Given the description of an element on the screen output the (x, y) to click on. 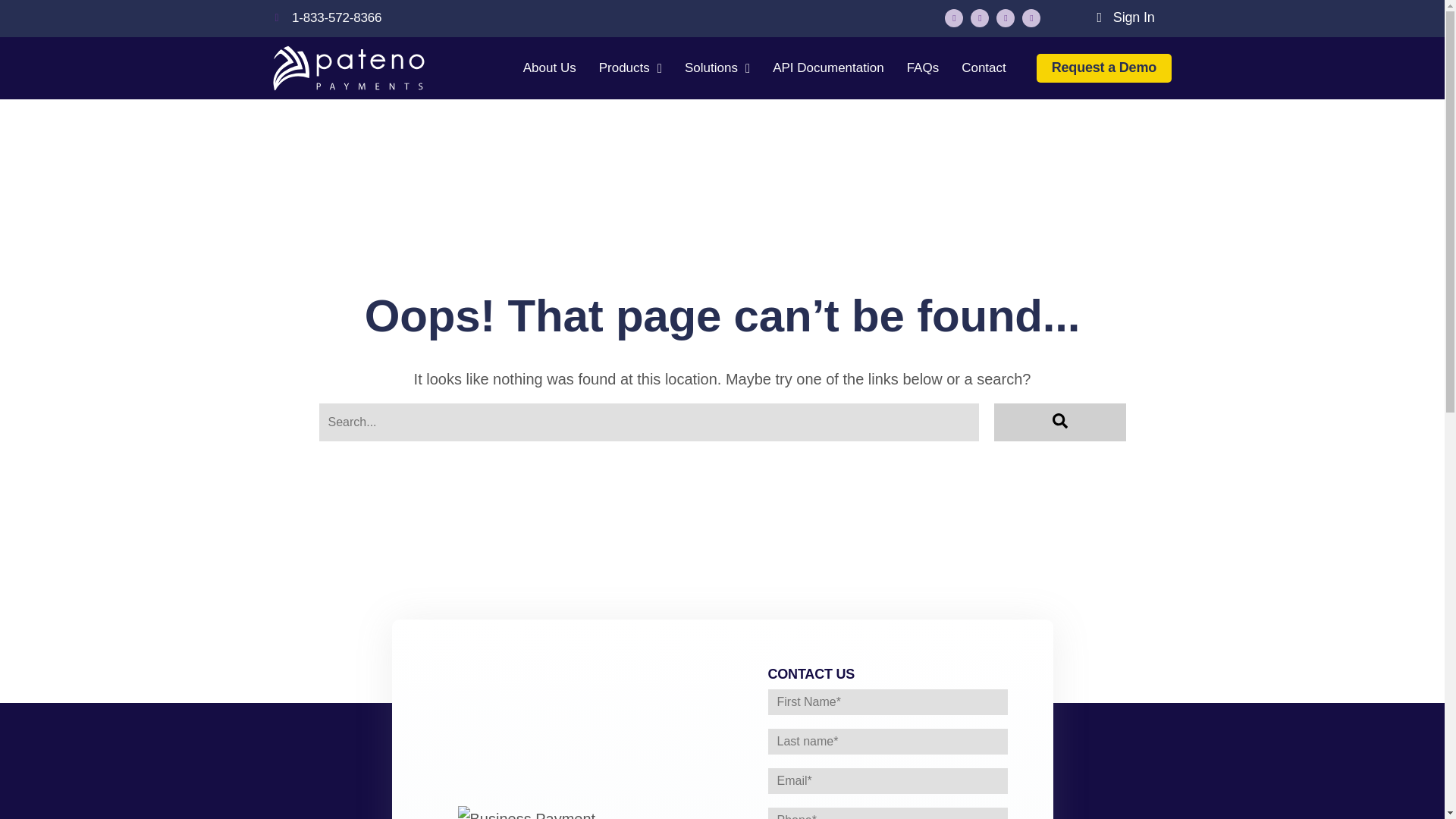
Sign In (1125, 17)
Solutions (716, 68)
Contact (983, 68)
About Us (549, 68)
Request a Demo (1104, 68)
Sign In (1125, 17)
Business Payment Solutions (349, 68)
Products (630, 68)
API Documentation (828, 68)
1-833-572-8366 (328, 18)
FAQs (923, 68)
